Given the description of an element on the screen output the (x, y) to click on. 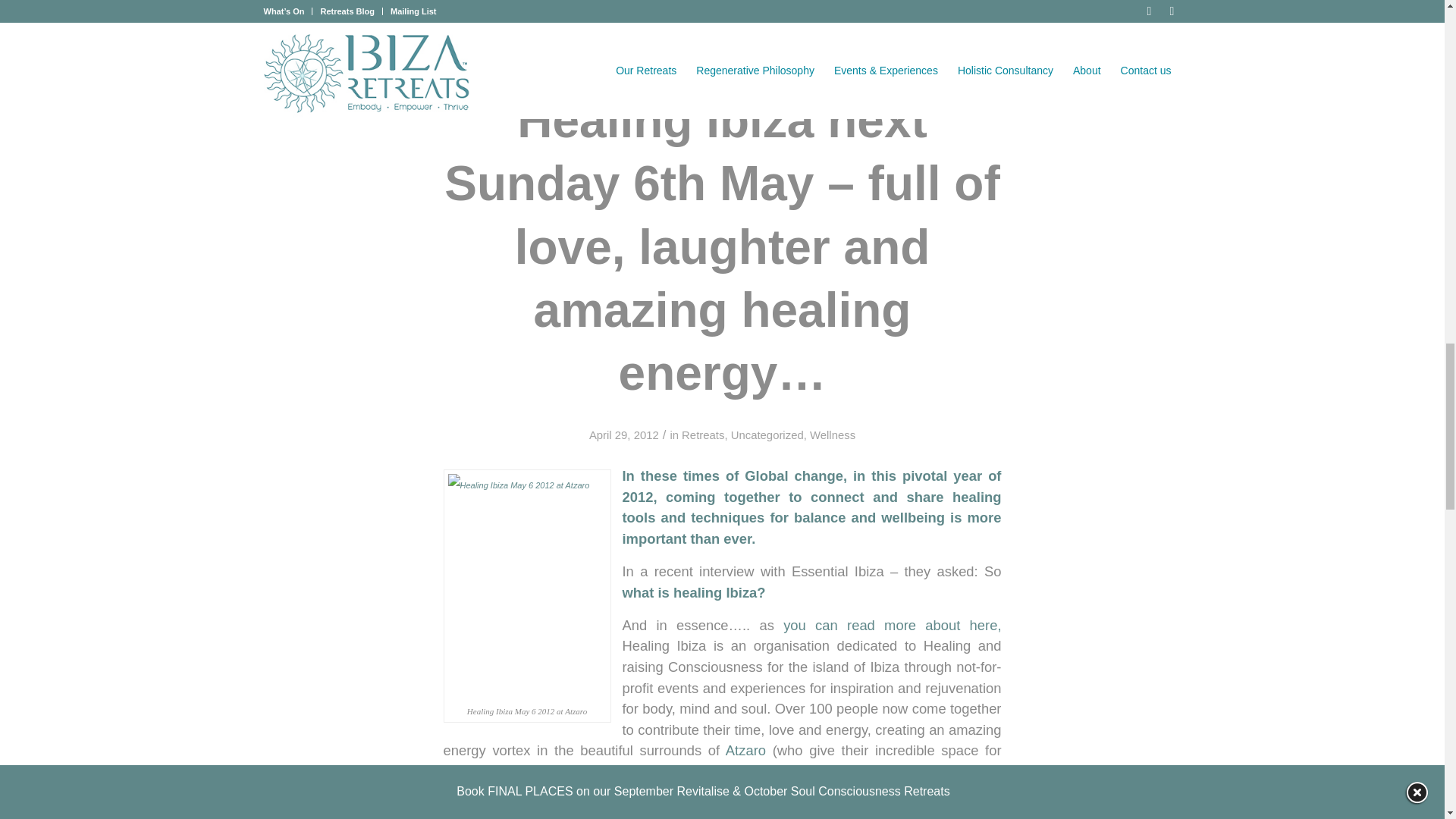
Uncategorized (766, 435)
Atzaro hotel and spa (745, 750)
Retreats (702, 435)
Atzaro (745, 750)
healing (721, 22)
you can read more about here, (892, 625)
What is Healing Ibiza? (892, 625)
Wellness (832, 435)
